Given the description of an element on the screen output the (x, y) to click on. 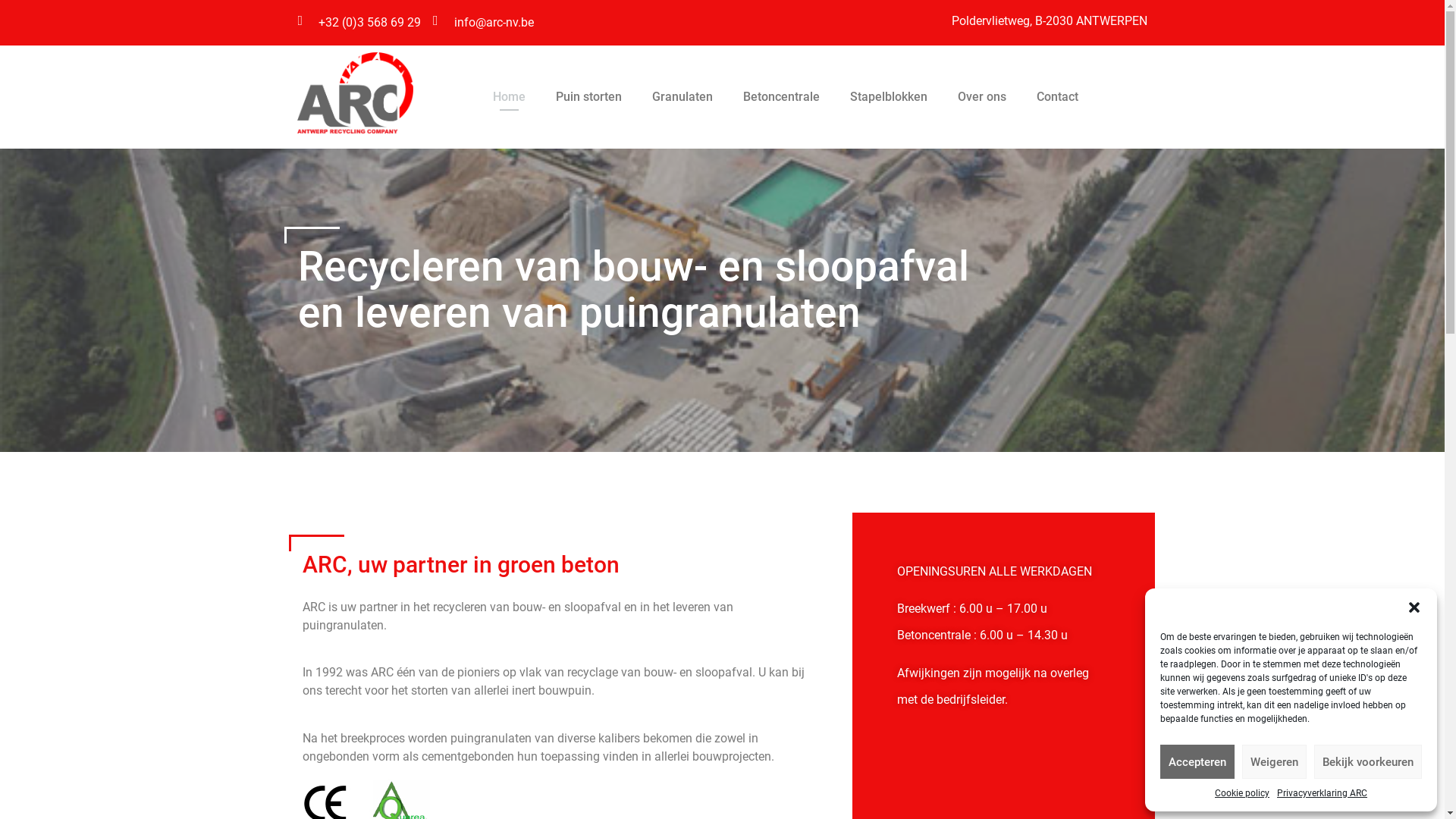
Puin storten Element type: text (588, 96)
Stapelblokken Element type: text (888, 96)
info@arc-nv.be Element type: text (483, 22)
Weigeren Element type: text (1274, 761)
Granulaten Element type: text (682, 96)
Betoncentrale Element type: text (781, 96)
Bekijk voorkeuren Element type: text (1367, 761)
Contact Element type: text (1057, 96)
Cookie policy Element type: text (1241, 793)
Home Element type: text (508, 96)
+32 (0)3 568 69 29 Element type: text (358, 22)
Accepteren Element type: text (1197, 761)
Over ons Element type: text (981, 96)
Logo ARC Element type: hover (355, 92)
Privacyverklaring ARC Element type: text (1322, 793)
